Given the description of an element on the screen output the (x, y) to click on. 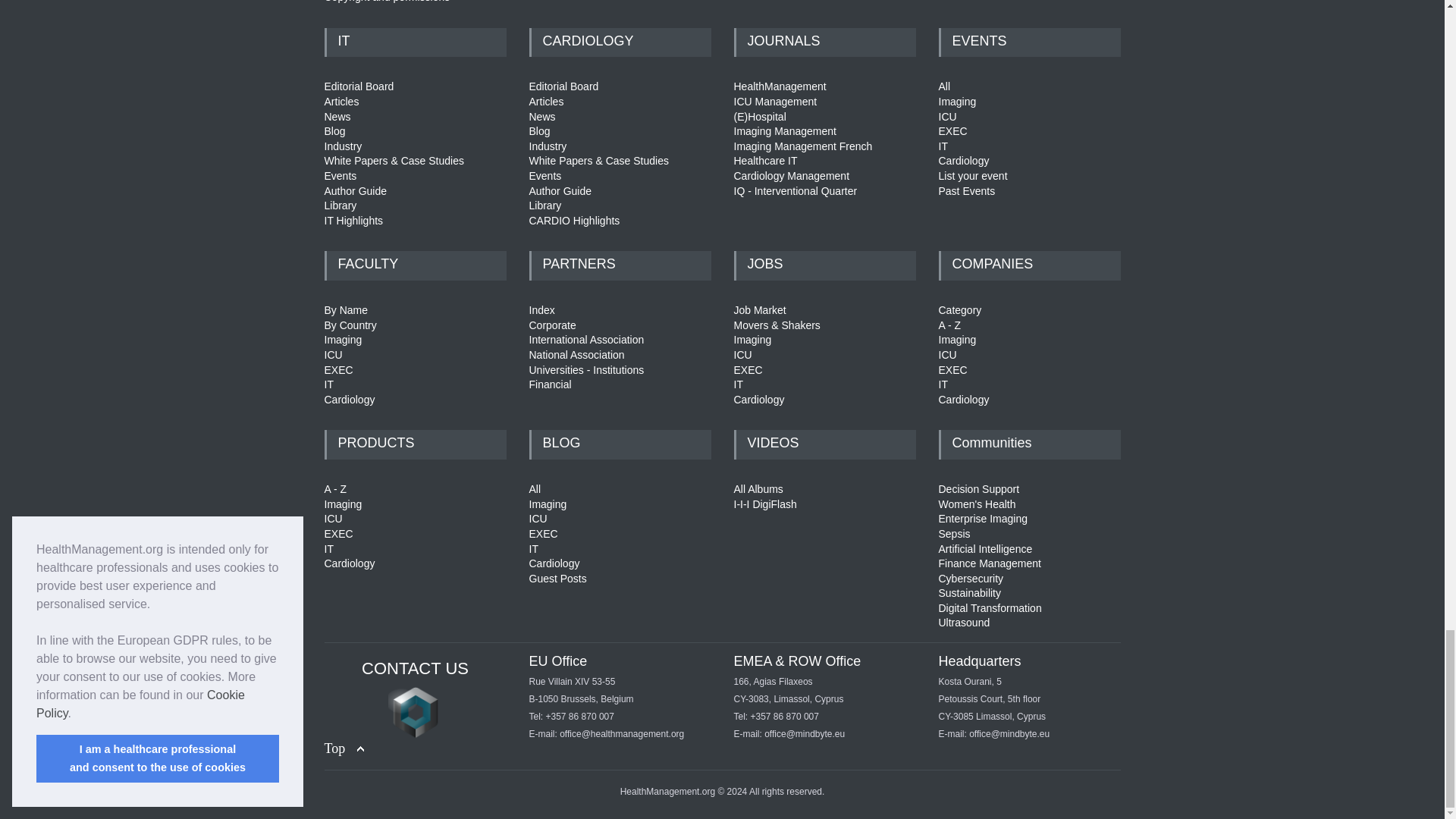
Top (344, 748)
